Given the description of an element on the screen output the (x, y) to click on. 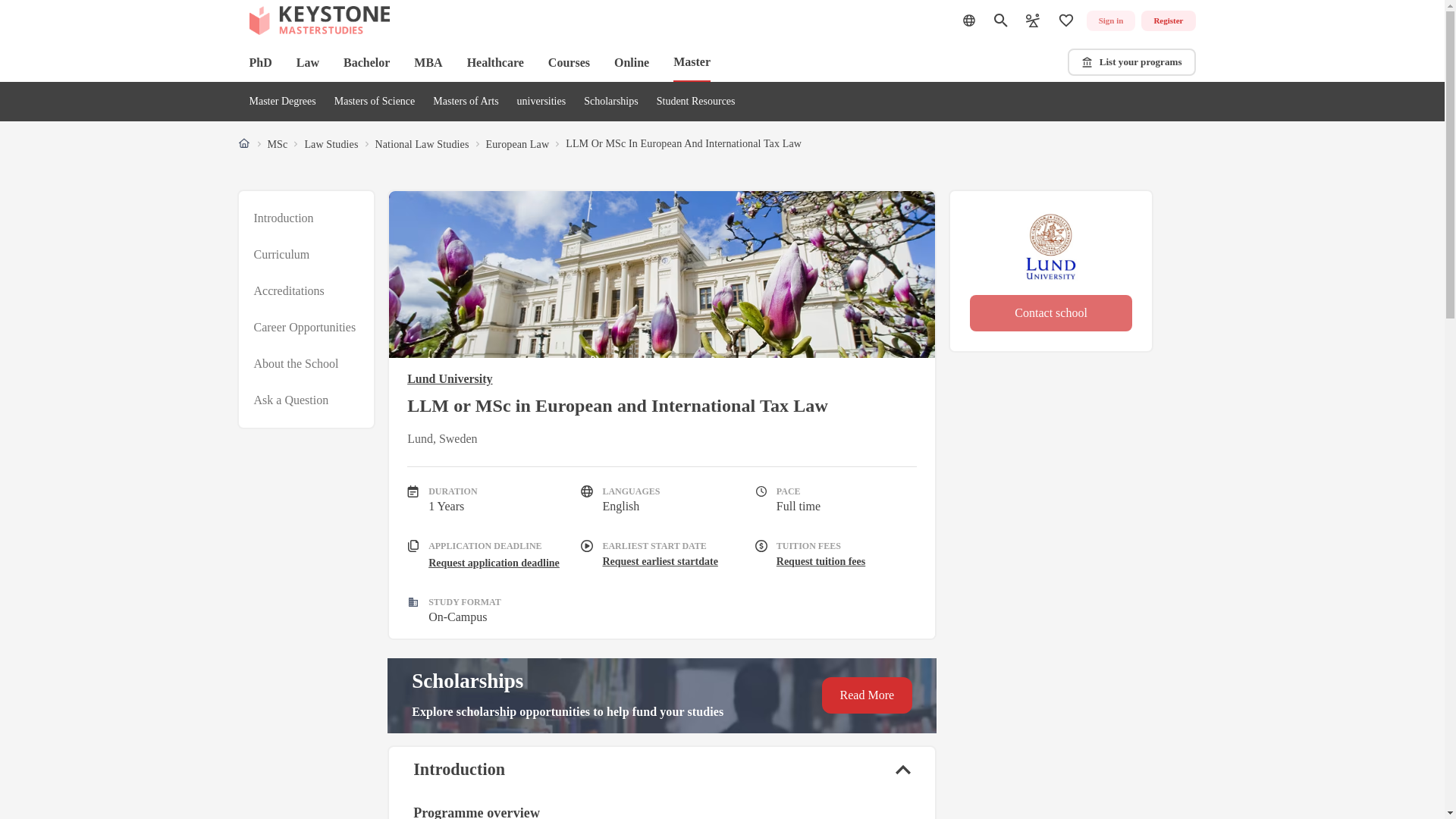
Student Resources (695, 101)
Career Opportunities (304, 327)
Courses (568, 63)
Sign in (1110, 20)
Register (1168, 20)
European Law (516, 144)
MSc (276, 144)
Scholarships (611, 101)
Masters of Arts (464, 101)
